Given the description of an element on the screen output the (x, y) to click on. 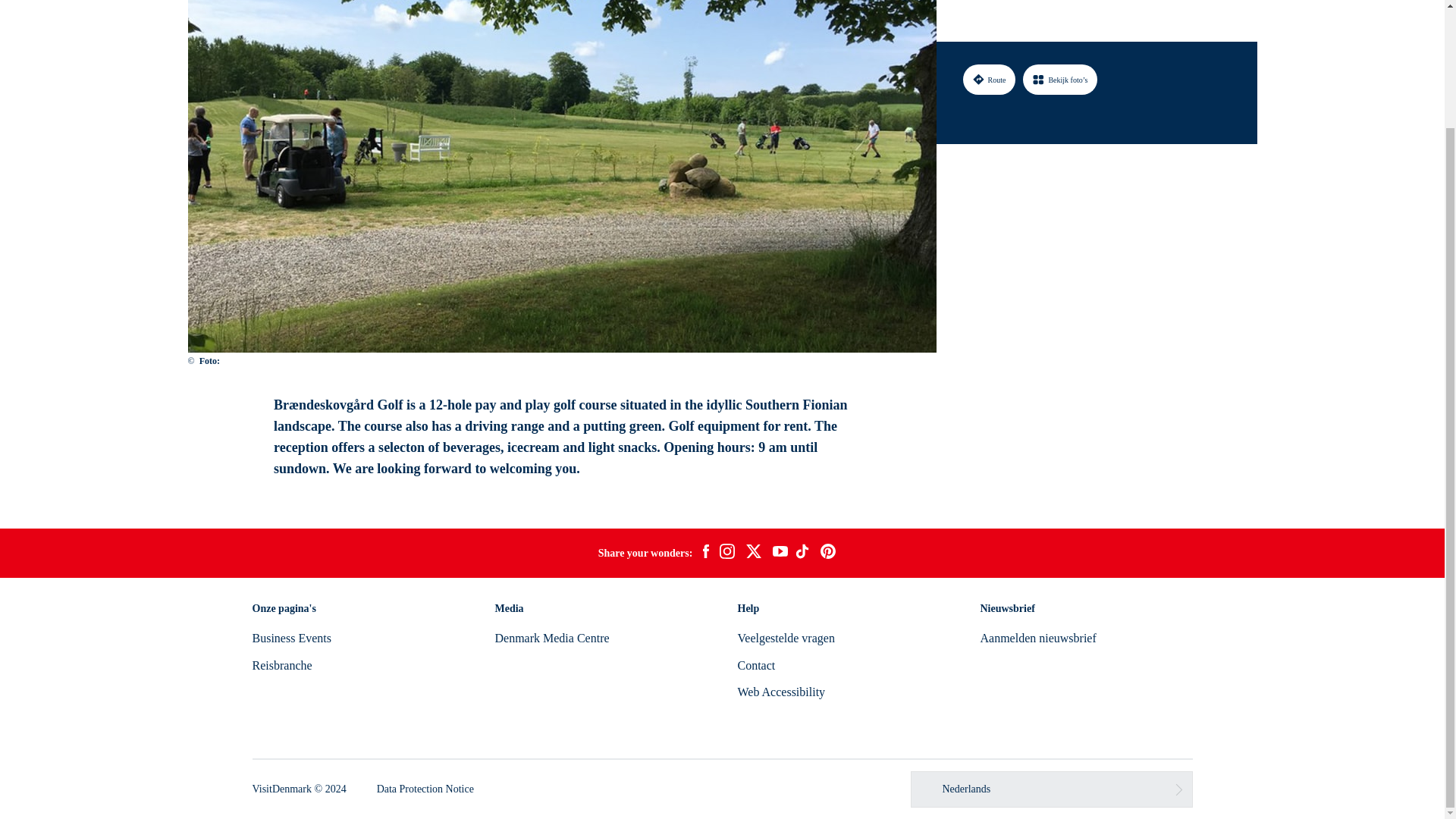
youtube (780, 553)
Contact (755, 665)
pinterest (828, 553)
Veelgestelde vragen (785, 637)
facebook (705, 553)
Route (989, 35)
tiktok (804, 553)
Denmark Media Centre (551, 637)
Business Events (290, 637)
Reisbranche (281, 665)
